Given the description of an element on the screen output the (x, y) to click on. 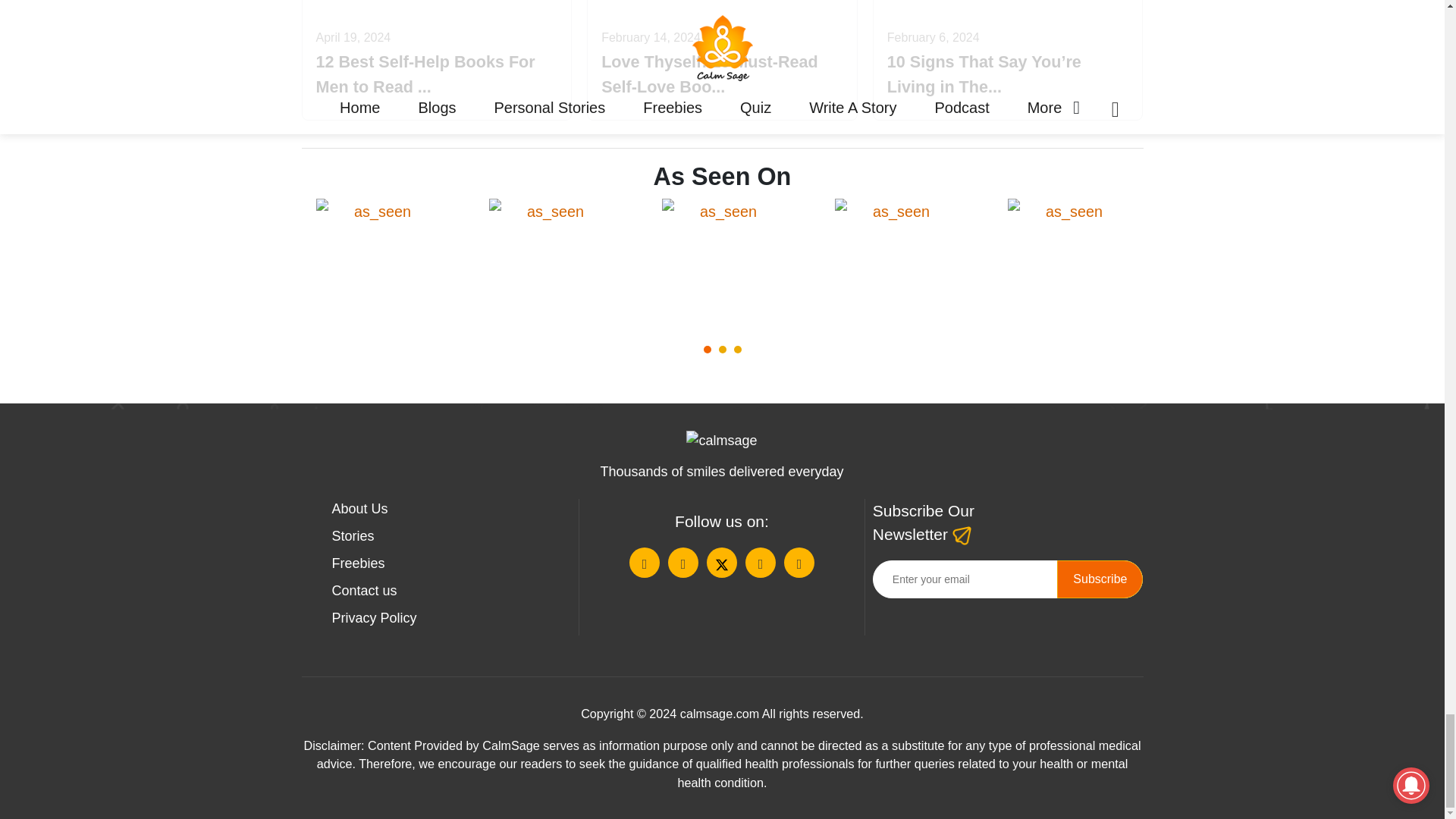
Subscribe (1099, 579)
